Given the description of an element on the screen output the (x, y) to click on. 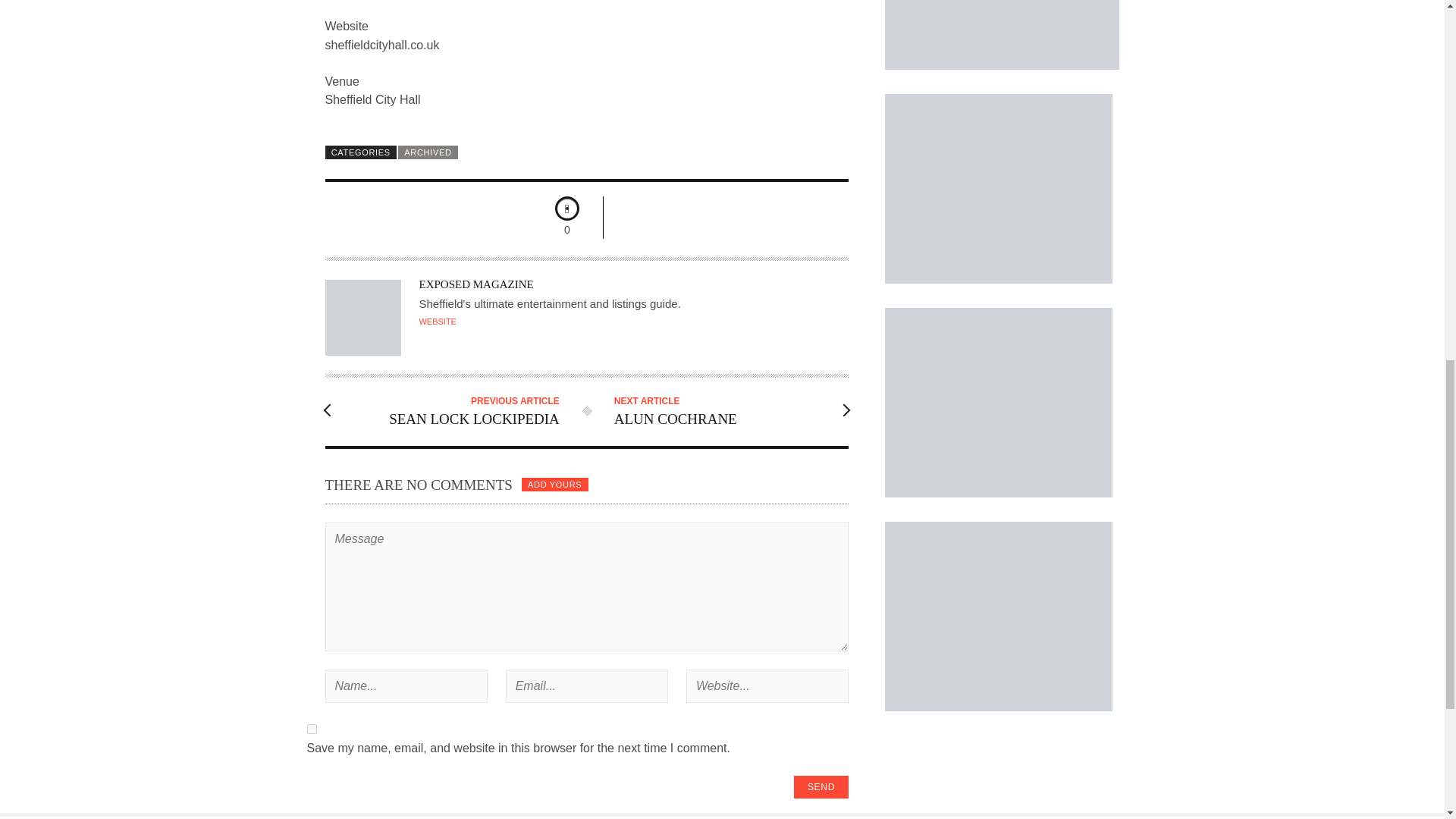
View all posts in Archived (427, 151)
Posts by Exposed Magazine (475, 284)
Send (820, 786)
yes (310, 728)
